Given the description of an element on the screen output the (x, y) to click on. 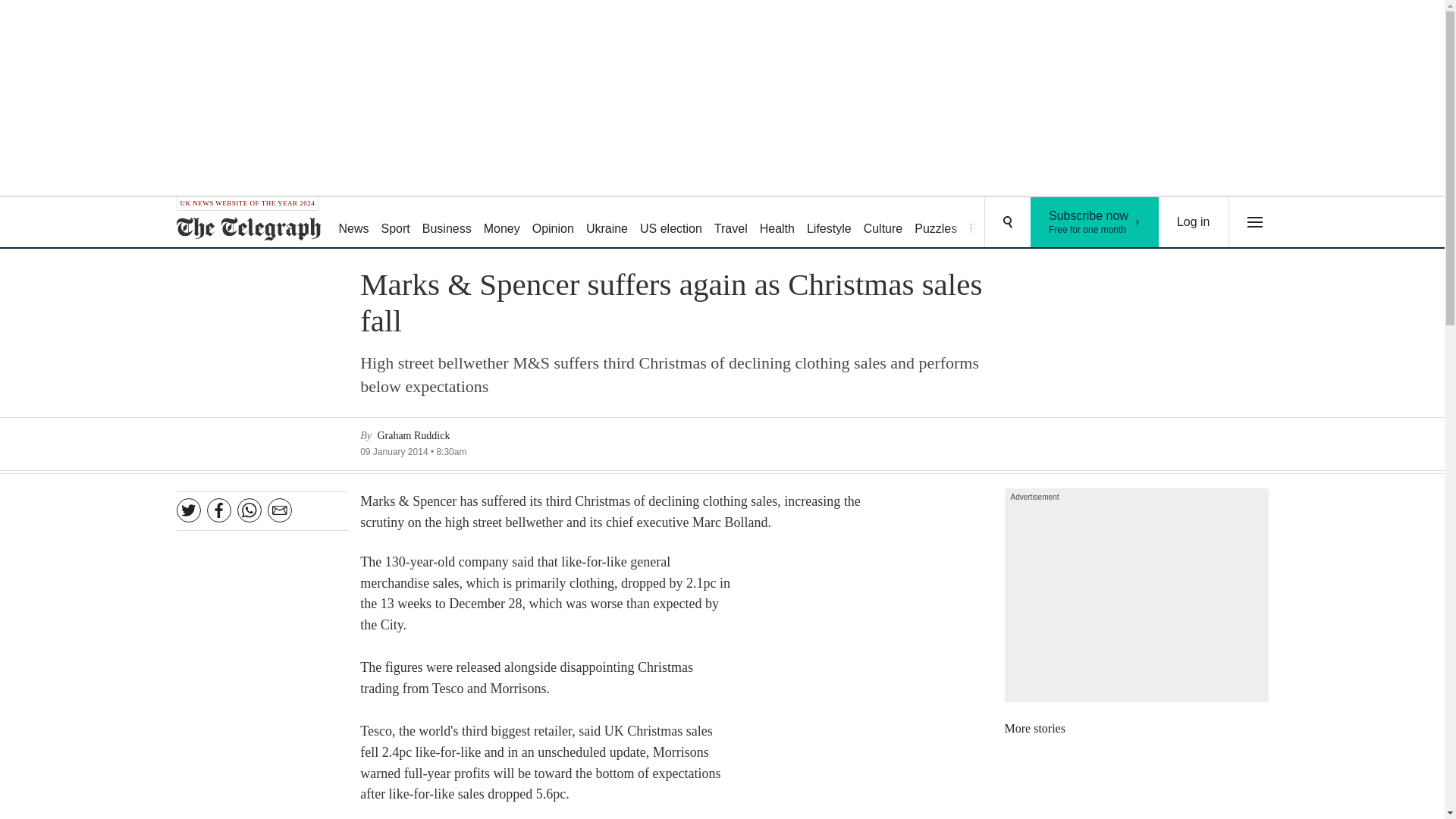
Culture (882, 223)
Podcasts (1094, 222)
Travel (993, 223)
US election (730, 223)
Lifestyle (670, 223)
Ukraine (828, 223)
Opinion (606, 223)
Log in (552, 223)
Business (1193, 222)
